Given the description of an element on the screen output the (x, y) to click on. 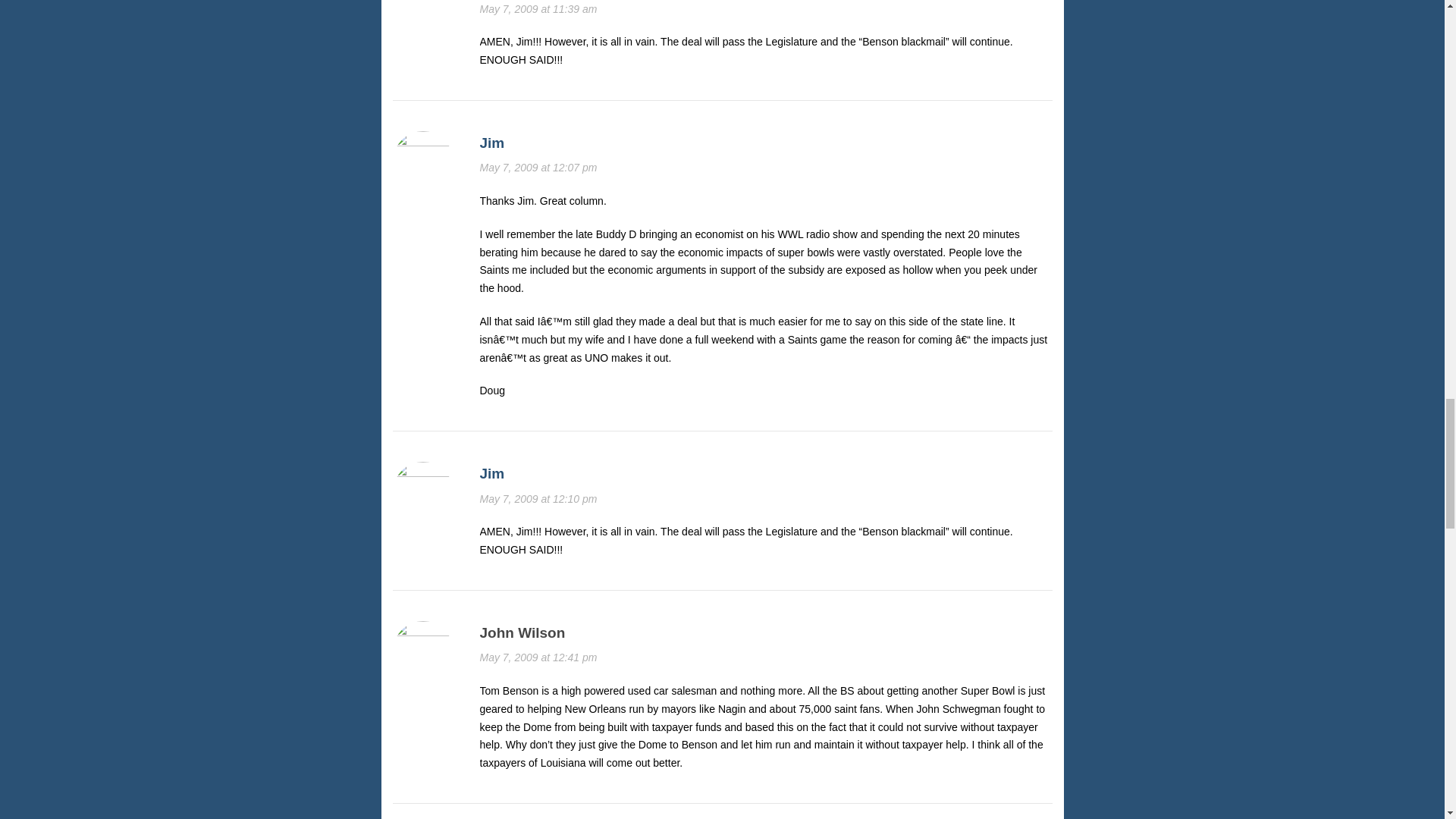
Jim (491, 473)
May 7, 2009 at 12:10 pm (537, 499)
May 7, 2009 at 12:41 pm (537, 657)
May 7, 2009 at 11:39 am (537, 9)
May 7, 2009 at 12:07 pm (537, 167)
Jim (491, 142)
